Given the description of an element on the screen output the (x, y) to click on. 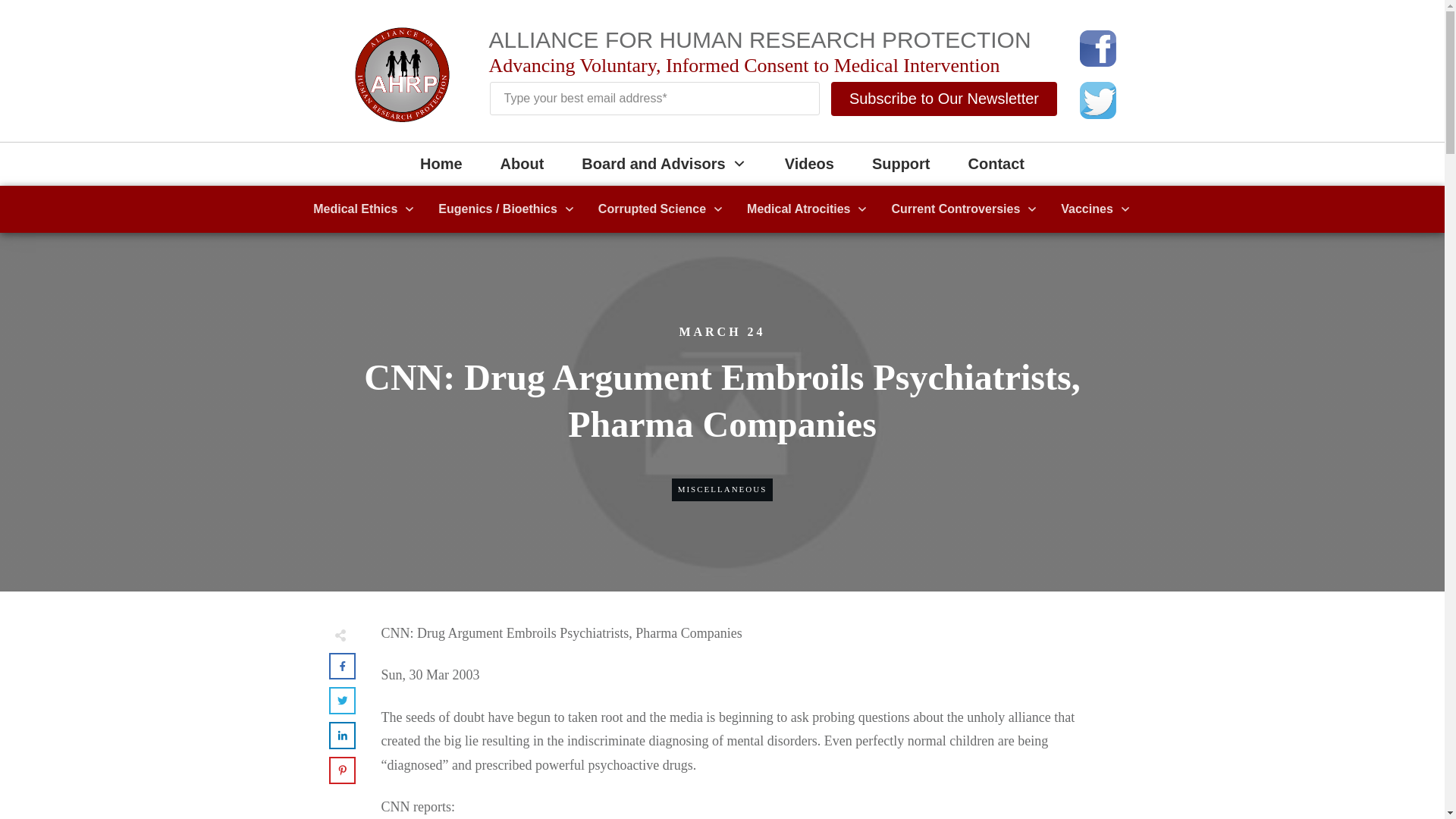
Videos (809, 163)
Subscribe to Our Newsletter (944, 98)
Miscellaneous (722, 488)
Medical Atrocities (806, 209)
facebook-logo (1098, 48)
twitter-logo (1098, 99)
Support (901, 163)
Medical Ethics (363, 209)
Home (441, 163)
Medical Ethics (363, 209)
Board and Advisors (662, 163)
About (522, 163)
Contact (996, 163)
Corrupted Science (660, 209)
